Given the description of an element on the screen output the (x, y) to click on. 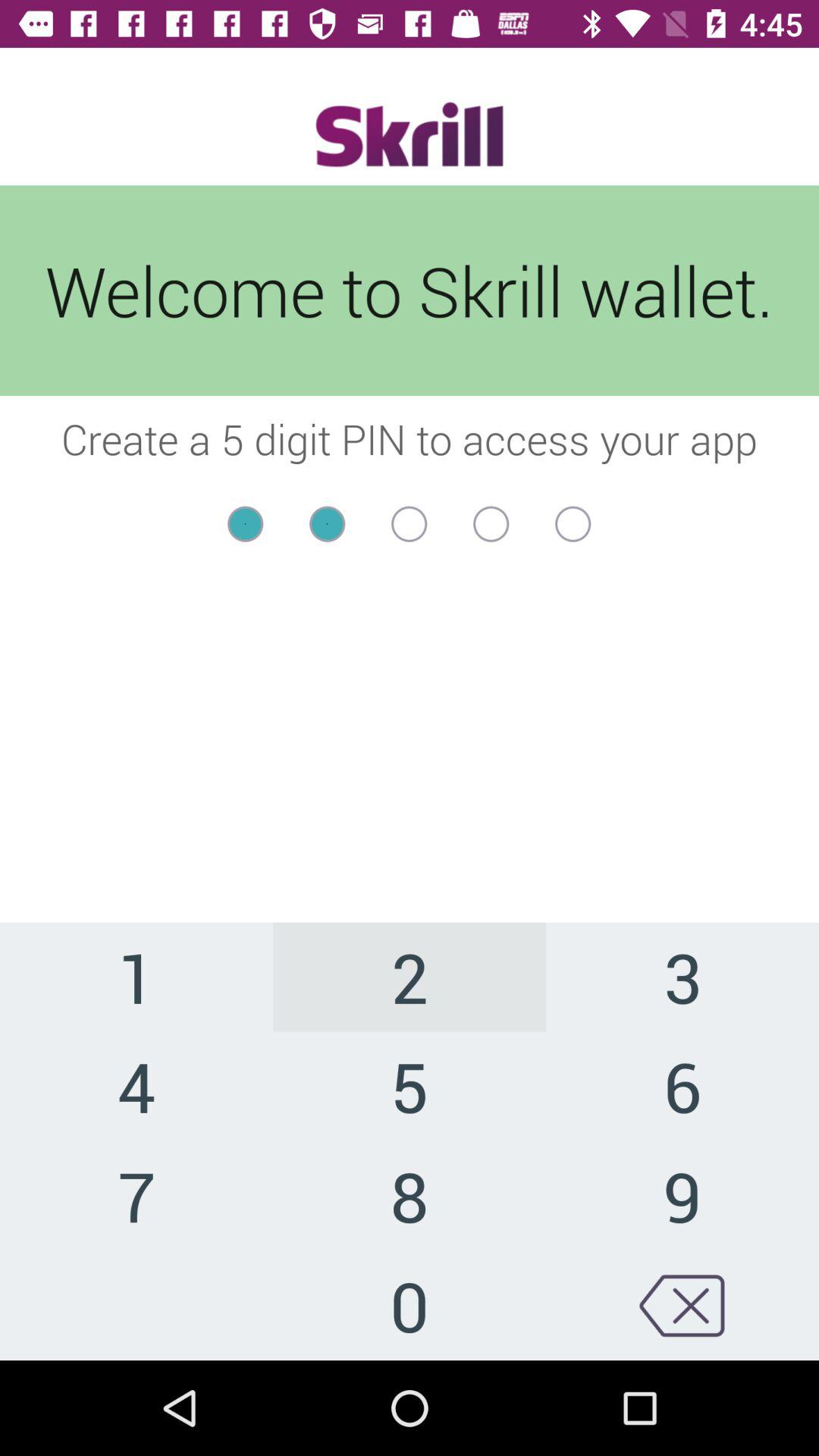
launch item next to the 6 icon (409, 1195)
